Given the description of an element on the screen output the (x, y) to click on. 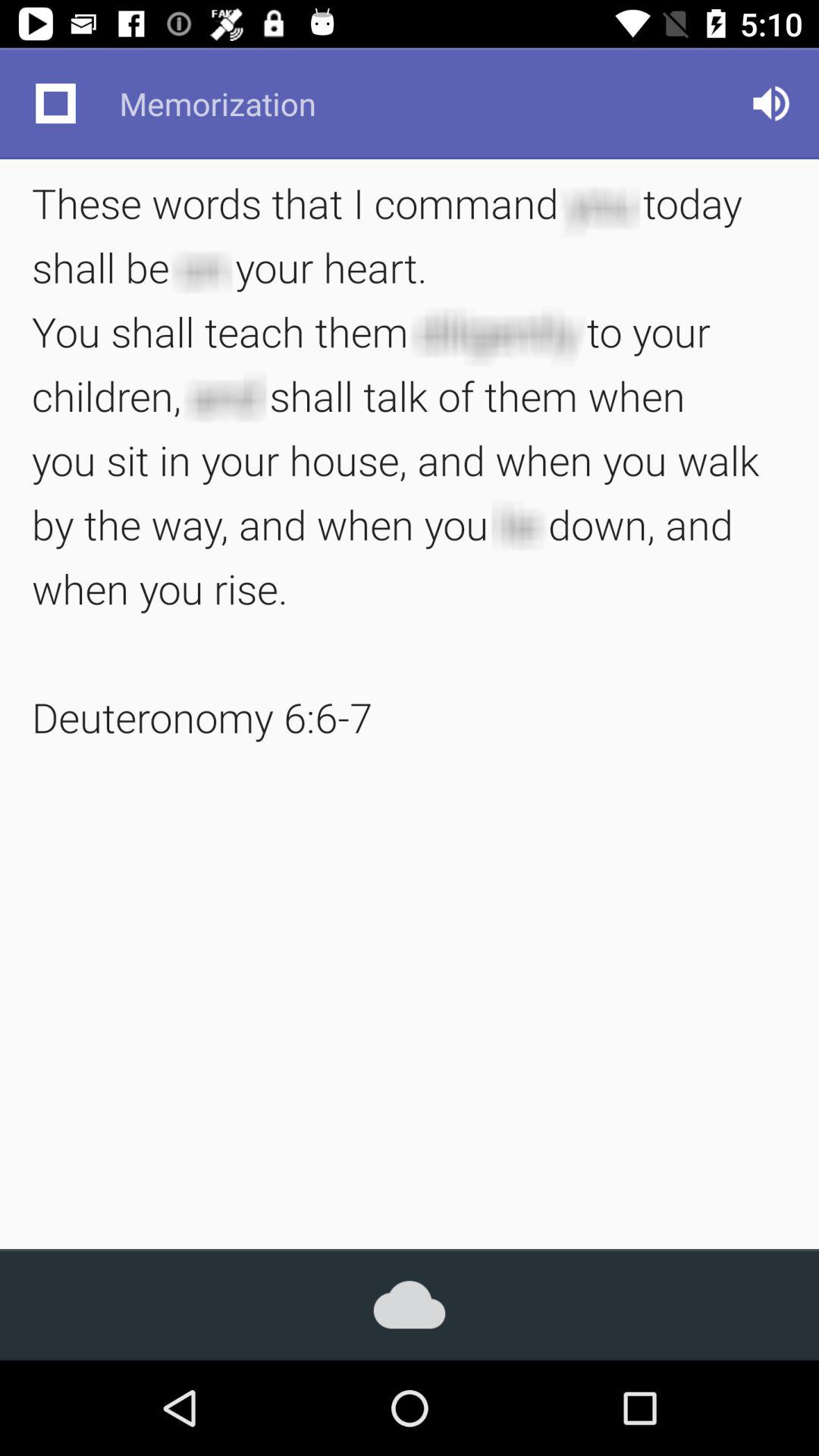
launch the item next to memorization app (55, 103)
